Given the description of an element on the screen output the (x, y) to click on. 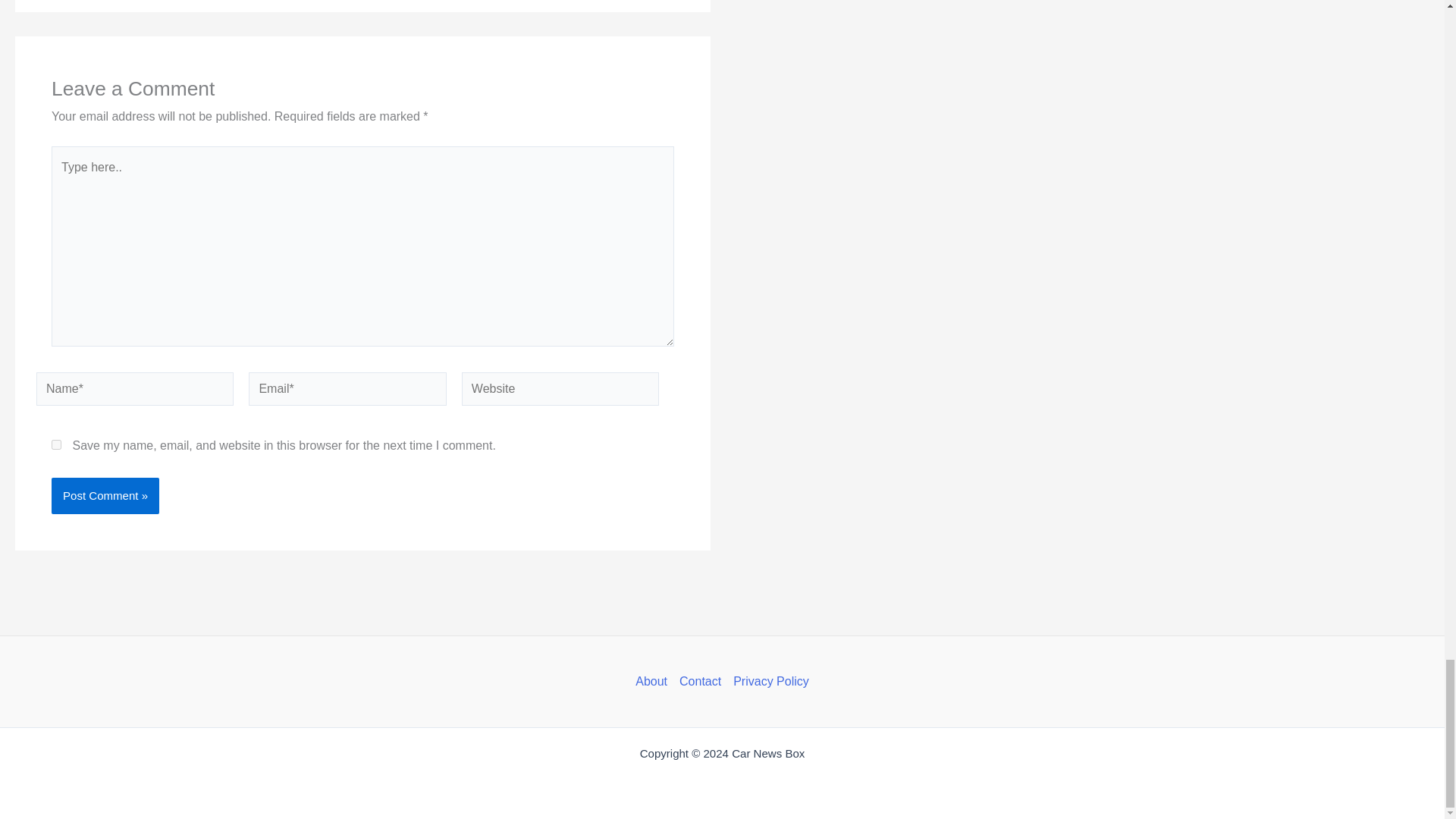
Privacy Policy (767, 681)
Contact (699, 681)
yes (55, 444)
About (653, 681)
